Given the description of an element on the screen output the (x, y) to click on. 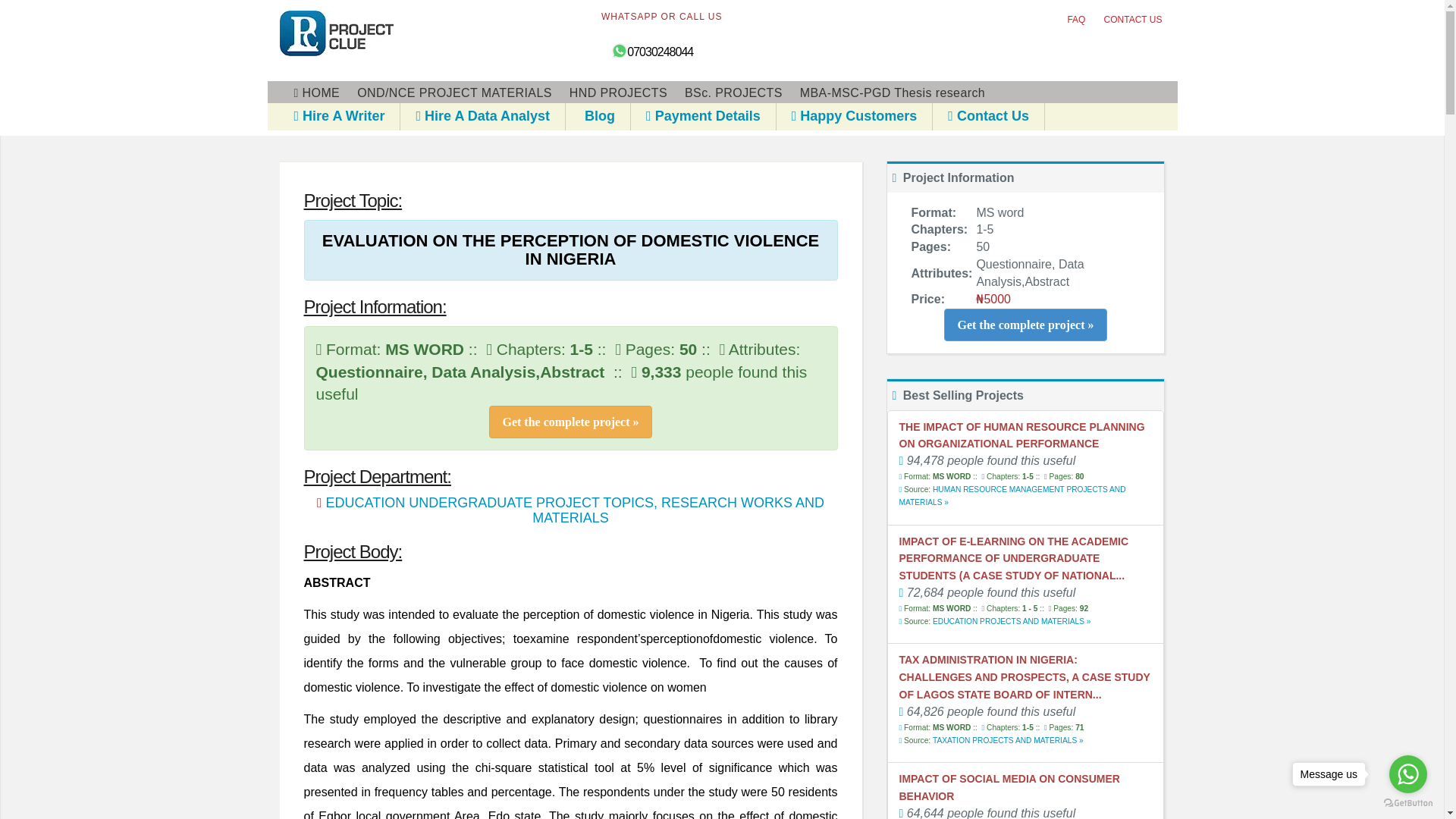
MBA-MSC-PGD Thesis research (892, 92)
HOME (317, 92)
BSc. PROJECTS (733, 92)
Payment Details (703, 115)
CONTACT US (1132, 19)
Hire a writer (339, 115)
Contact Us (988, 115)
Contact Us (988, 115)
Blog (597, 115)
Hire A Writer (339, 115)
Hire a data analyst (482, 115)
Hire A Data Analyst (482, 115)
FAQ (1075, 19)
Happy Customers (854, 115)
